Given the description of an element on the screen output the (x, y) to click on. 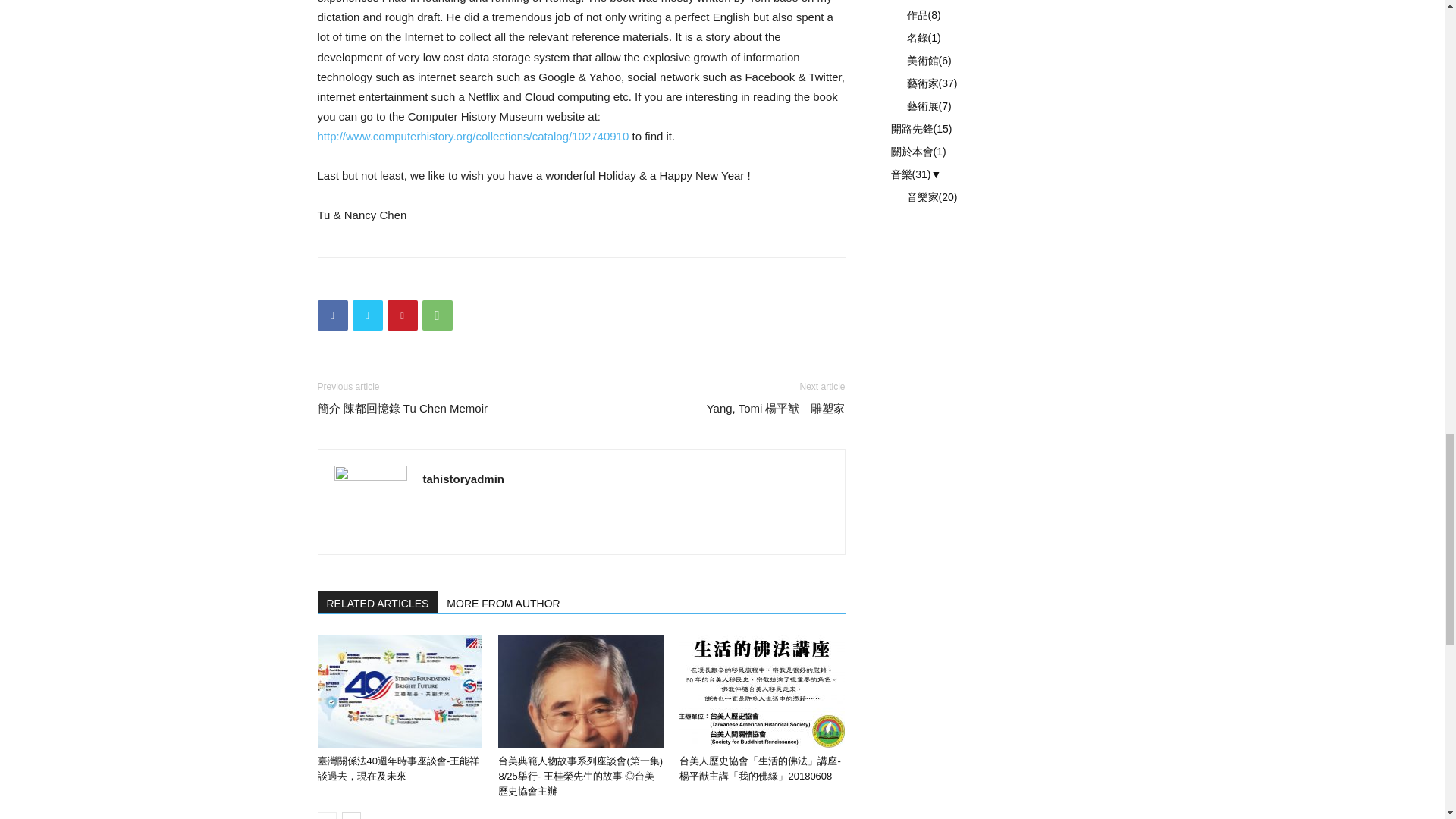
bottomFacebookLike (430, 281)
Twitter (366, 315)
WhatsApp (436, 315)
Pinterest (401, 315)
Facebook (332, 315)
